Given the description of an element on the screen output the (x, y) to click on. 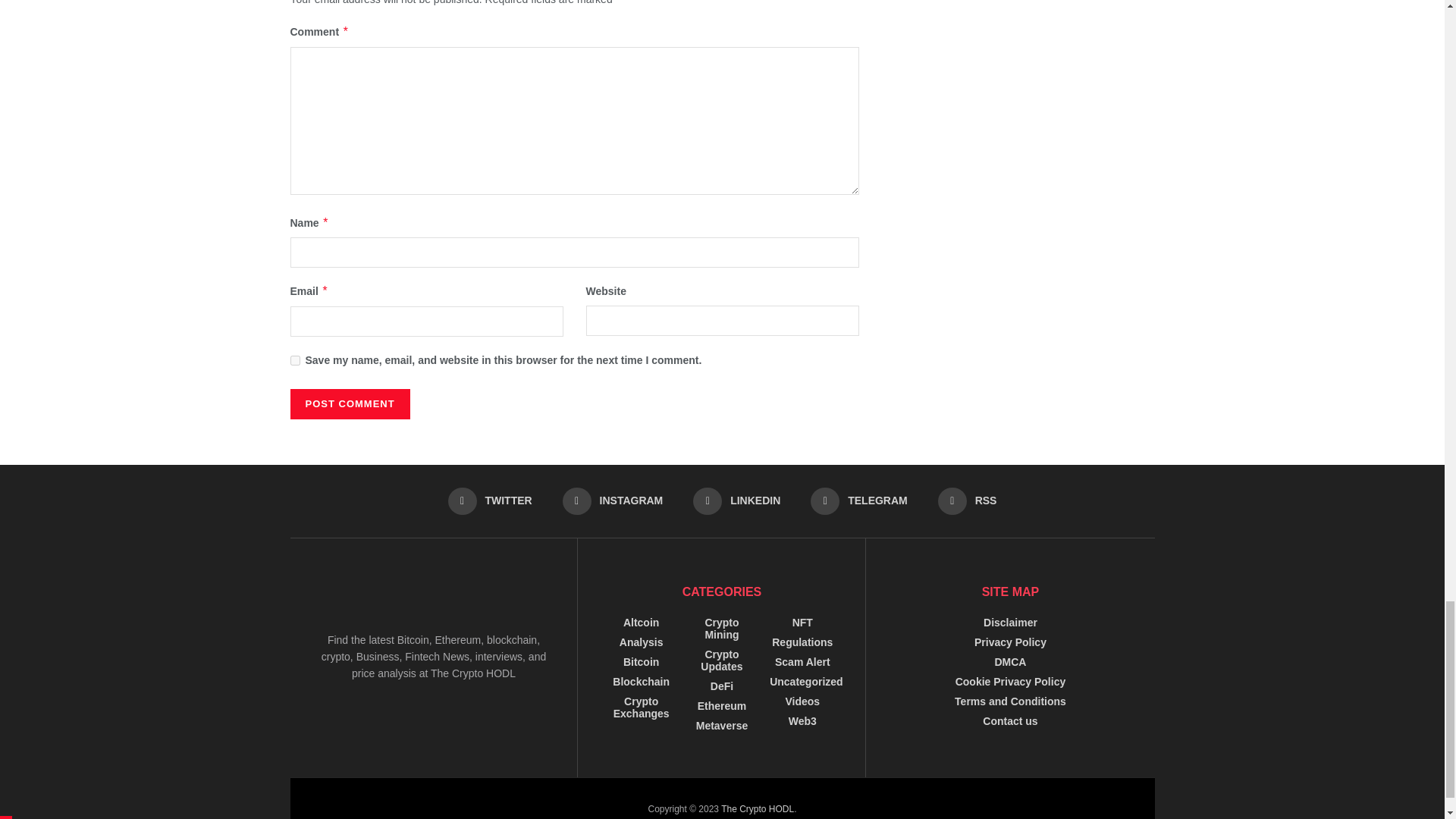
The Crypto HODL (756, 808)
yes (294, 360)
Post Comment (349, 404)
